Given the description of an element on the screen output the (x, y) to click on. 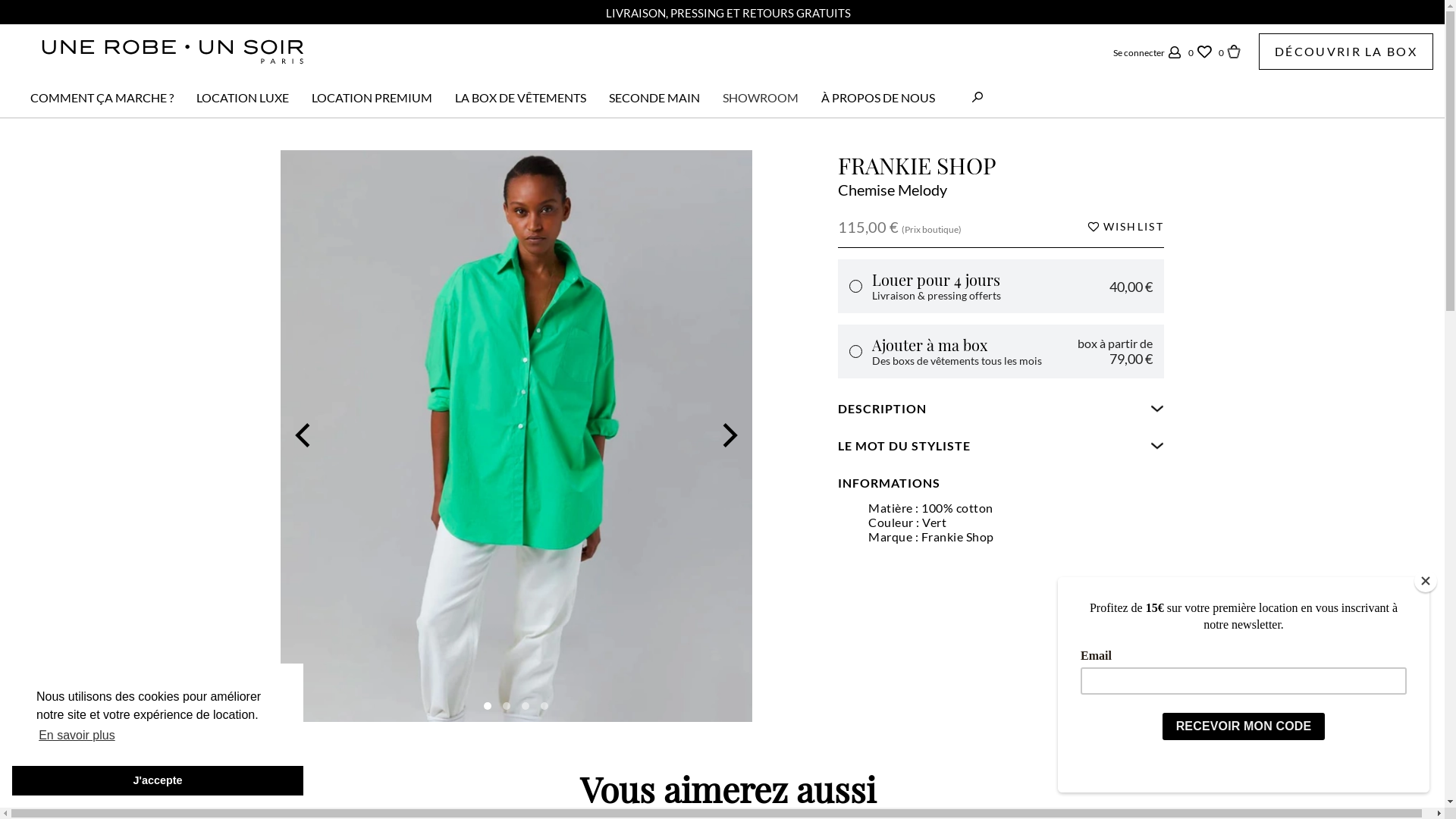
0 Element type: text (1201, 51)
WISHLIST Element type: text (1125, 226)
J'accepte Element type: text (157, 780)
FRANKIE SHOP Element type: text (916, 165)
Se connecter Element type: text (1148, 51)
En savoir plus Element type: text (76, 735)
0 Element type: text (1229, 51)
SHOWROOM Element type: text (760, 97)
